Given the description of an element on the screen output the (x, y) to click on. 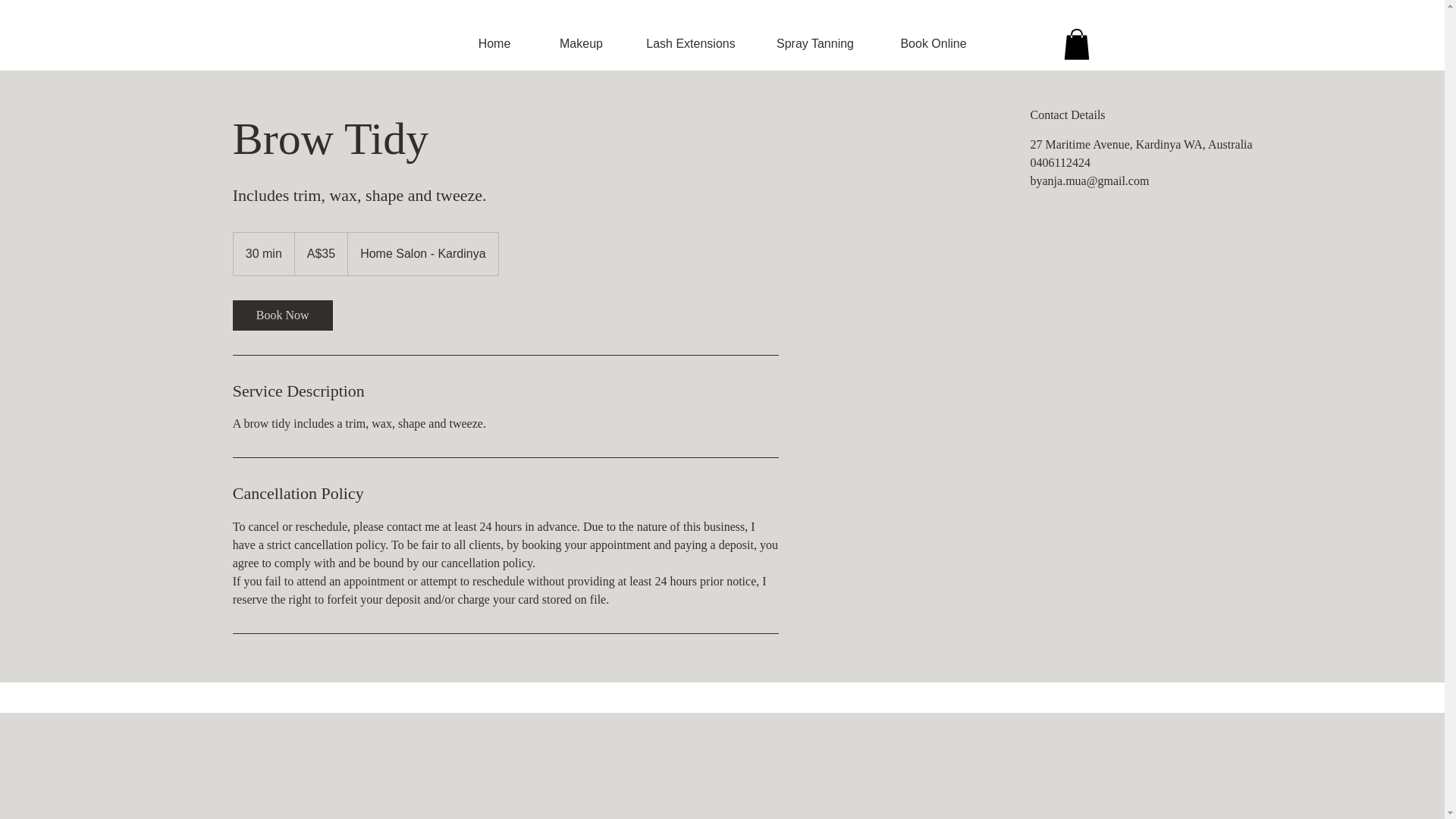
Book Now (282, 315)
Makeup (581, 44)
Spray Tanning (815, 44)
Lash Extensions (690, 44)
Home (493, 44)
Book Online (933, 44)
